Given the description of an element on the screen output the (x, y) to click on. 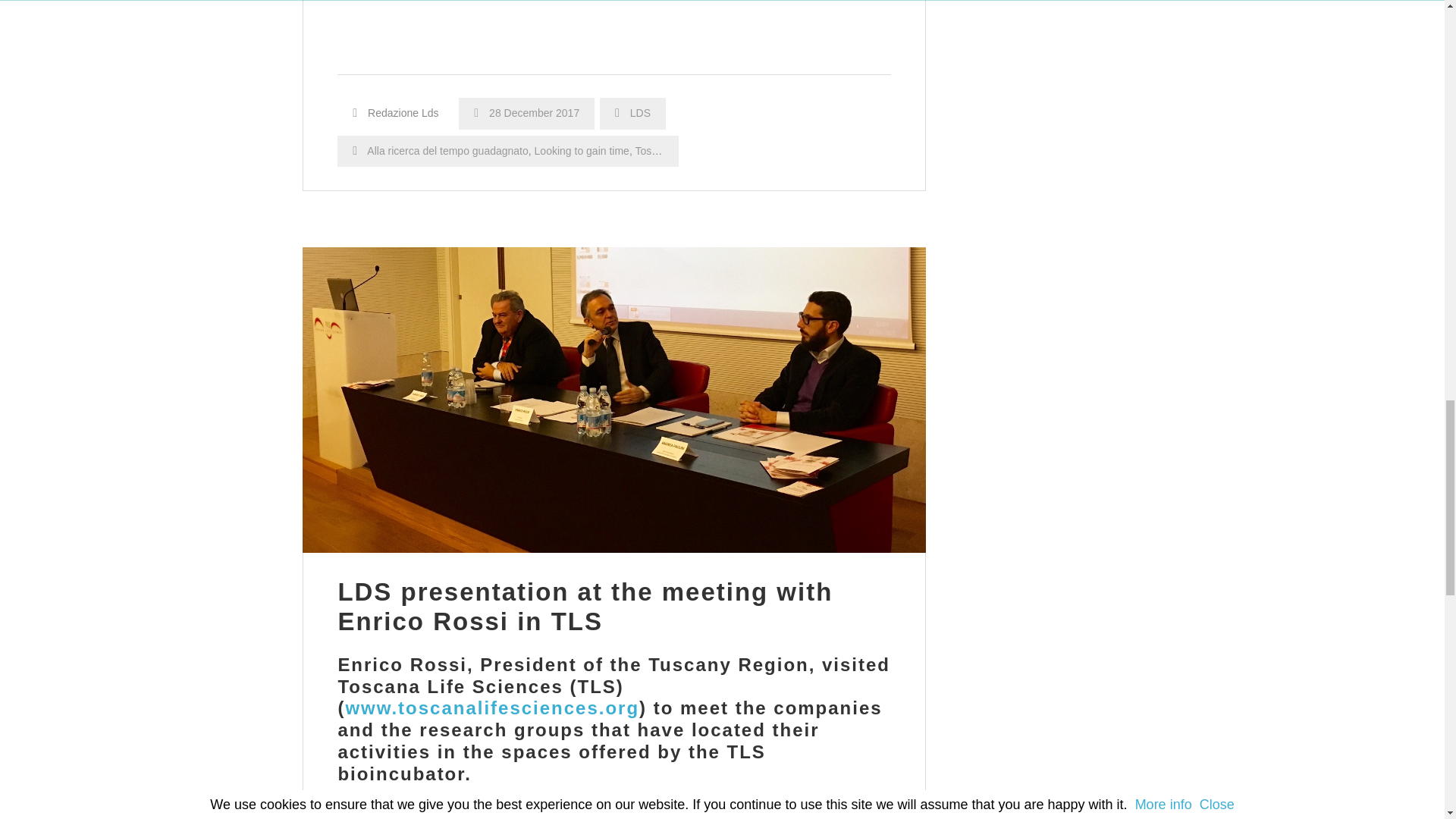
LDS (640, 112)
Toscana Life Sciences (686, 150)
www.toscanalifesciences.org (492, 707)
Looking to gain time (581, 150)
LDS presentation at the meeting with Enrico Rossi in TLS (584, 607)
28 December 2017 (526, 112)
Alla ricerca del tempo guadagnato (446, 150)
